Given the description of an element on the screen output the (x, y) to click on. 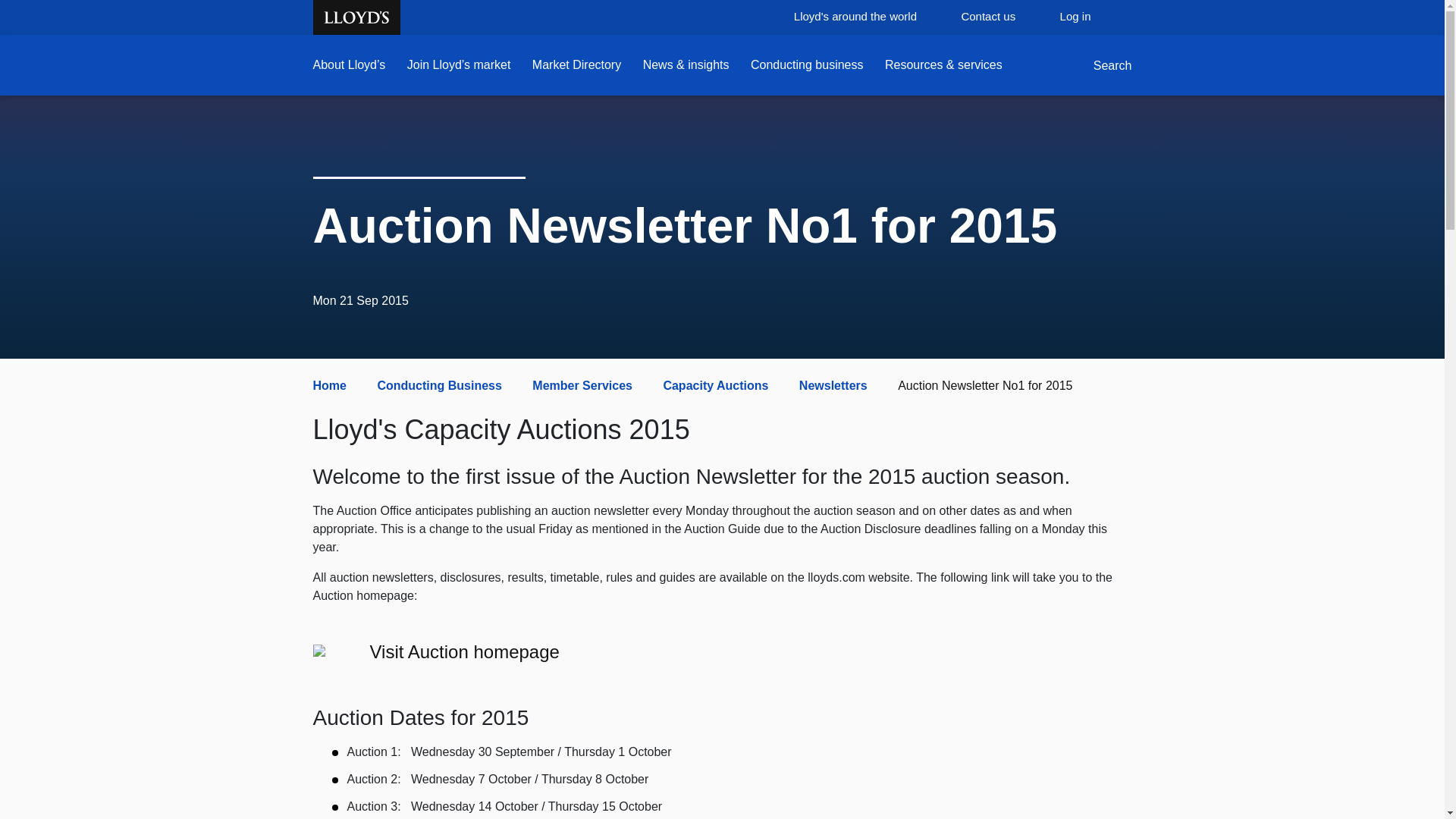
Log in (1090, 17)
Lloyd's around the world (869, 17)
Market Directory (576, 65)
Contact us (1002, 17)
